Given the description of an element on the screen output the (x, y) to click on. 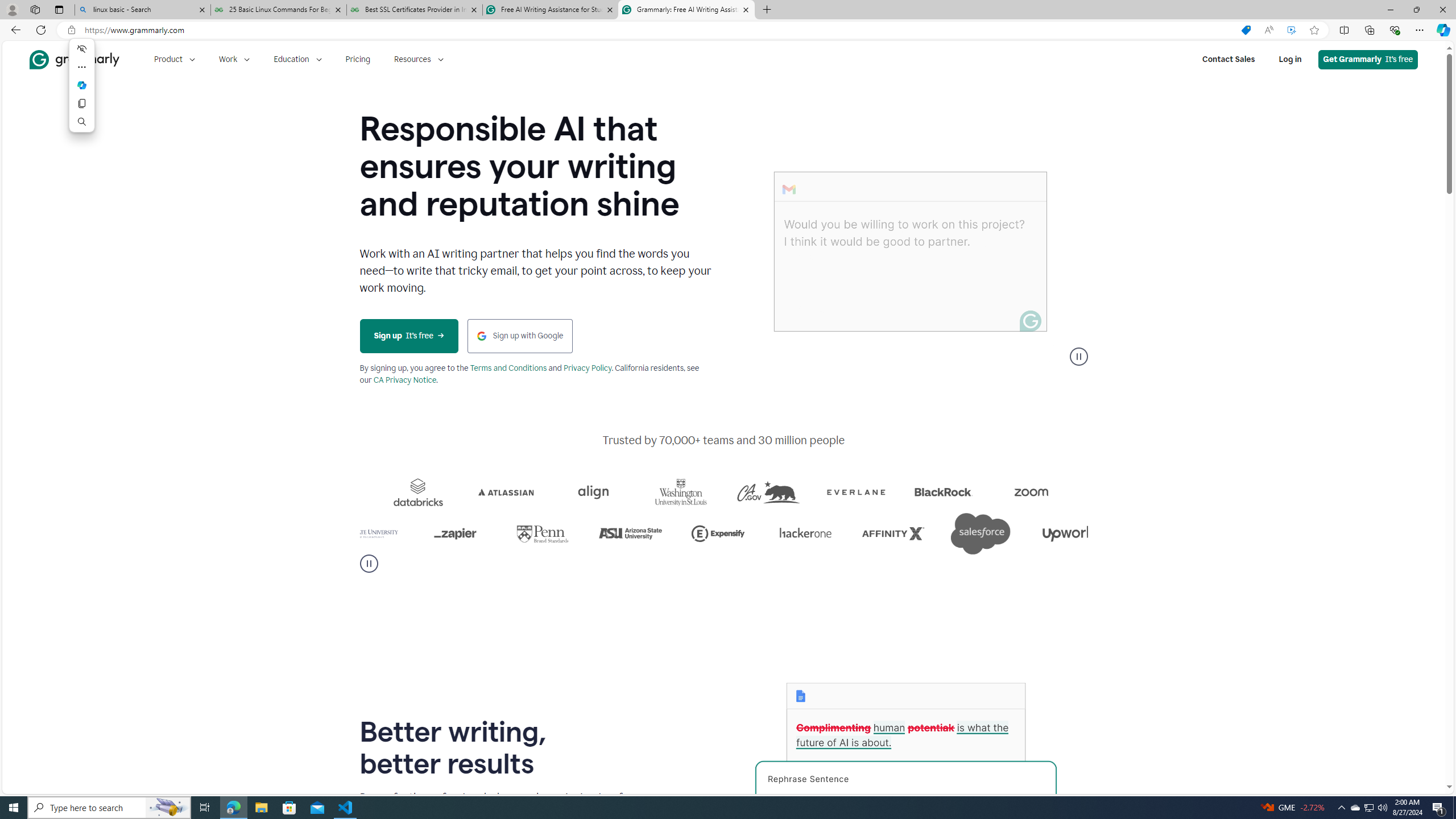
Hacker One (941, 533)
AffintyX (1028, 533)
Ask Copilot (81, 85)
Washington University in St. Louis (807, 491)
Grammarly: Free AI Writing Assistance (685, 9)
Product (174, 58)
Mini menu on text selection (81, 84)
Atlassian (641, 491)
Product (174, 58)
CA Privacy Notice (404, 379)
